Given the description of an element on the screen output the (x, y) to click on. 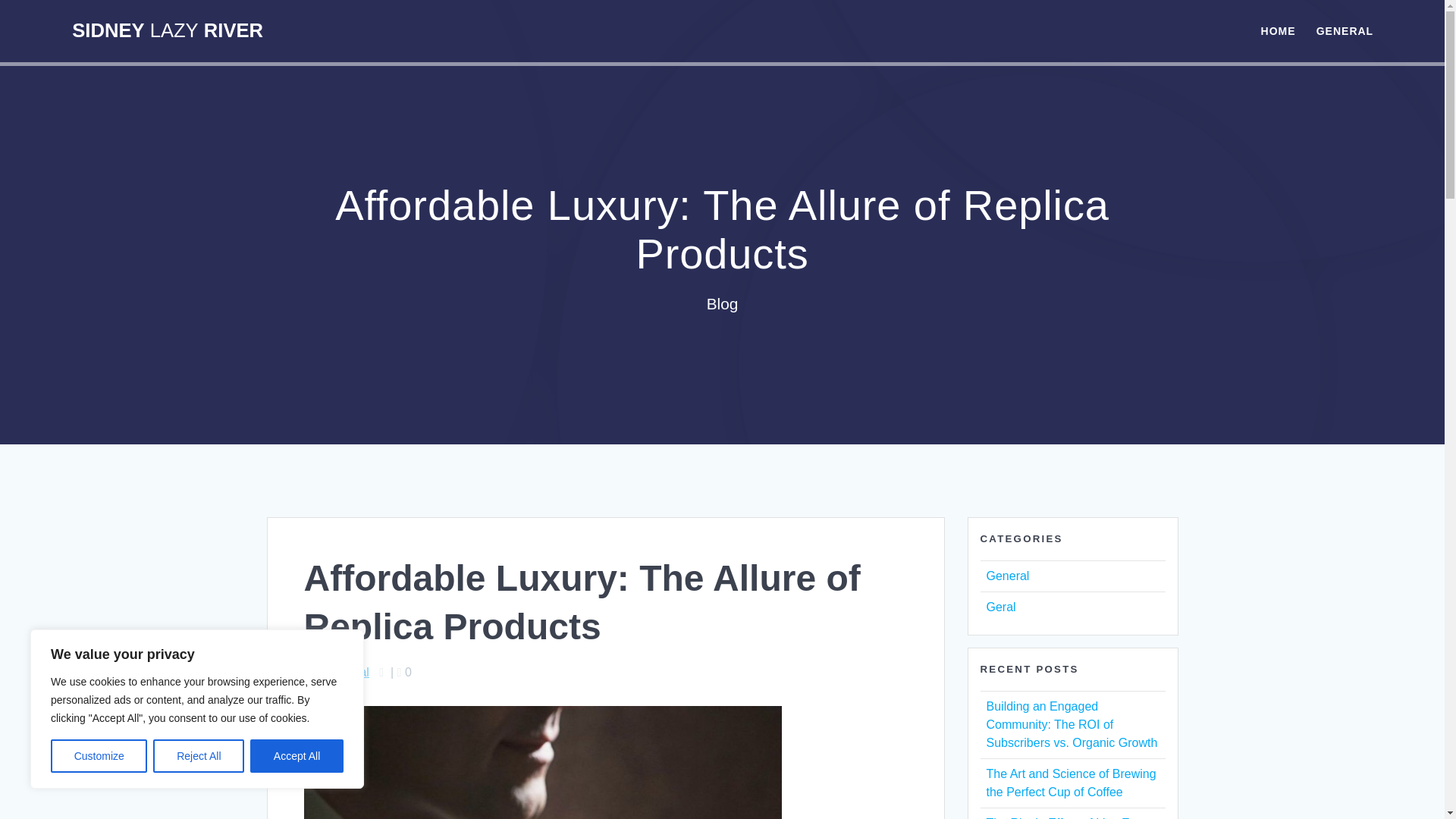
General (347, 671)
General (1007, 575)
Reject All (198, 756)
The Art and Science of Brewing the Perfect Cup of Coffee (1070, 782)
HOME (1277, 30)
Customize (98, 756)
Accept All (296, 756)
GENERAL (1344, 30)
Geral (999, 606)
